Given the description of an element on the screen output the (x, y) to click on. 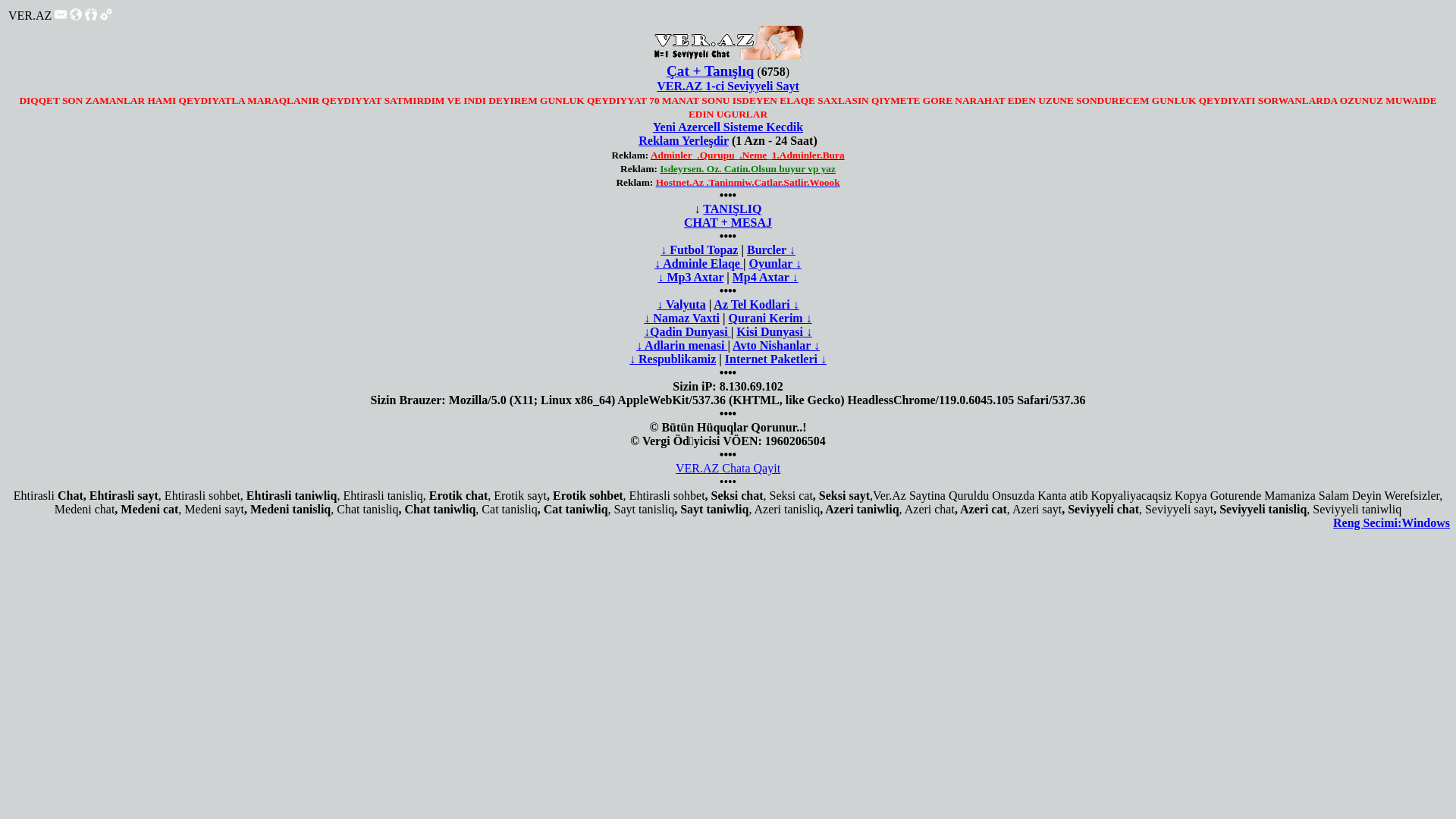
VER.AZ Chata Qayit Element type: text (727, 467)
Adminler_.Qurupu_.Neme_1.Adminler.Bura Element type: text (747, 154)
CHAT + MESAJ Element type: text (727, 222)
Qonaqlar Element type: hover (90, 15)
Reng Secimi:Windows Element type: text (1391, 522)
Yeni Azercell Sisteme Kecdik Element type: text (727, 126)
VER.AZ 1-ci Seviyyeli Sayt Element type: text (727, 85)
Hostnet.Az .Taninmiw.Catlar.Satlir.Woook Element type: text (747, 182)
Mesajlar Element type: hover (60, 14)
Qonaqlar Element type: hover (90, 14)
Mesajlar Element type: hover (60, 15)
Isdeyrsen. Oz. Catin.Olsun buyur vp yaz Element type: text (747, 168)
